Given the description of an element on the screen output the (x, y) to click on. 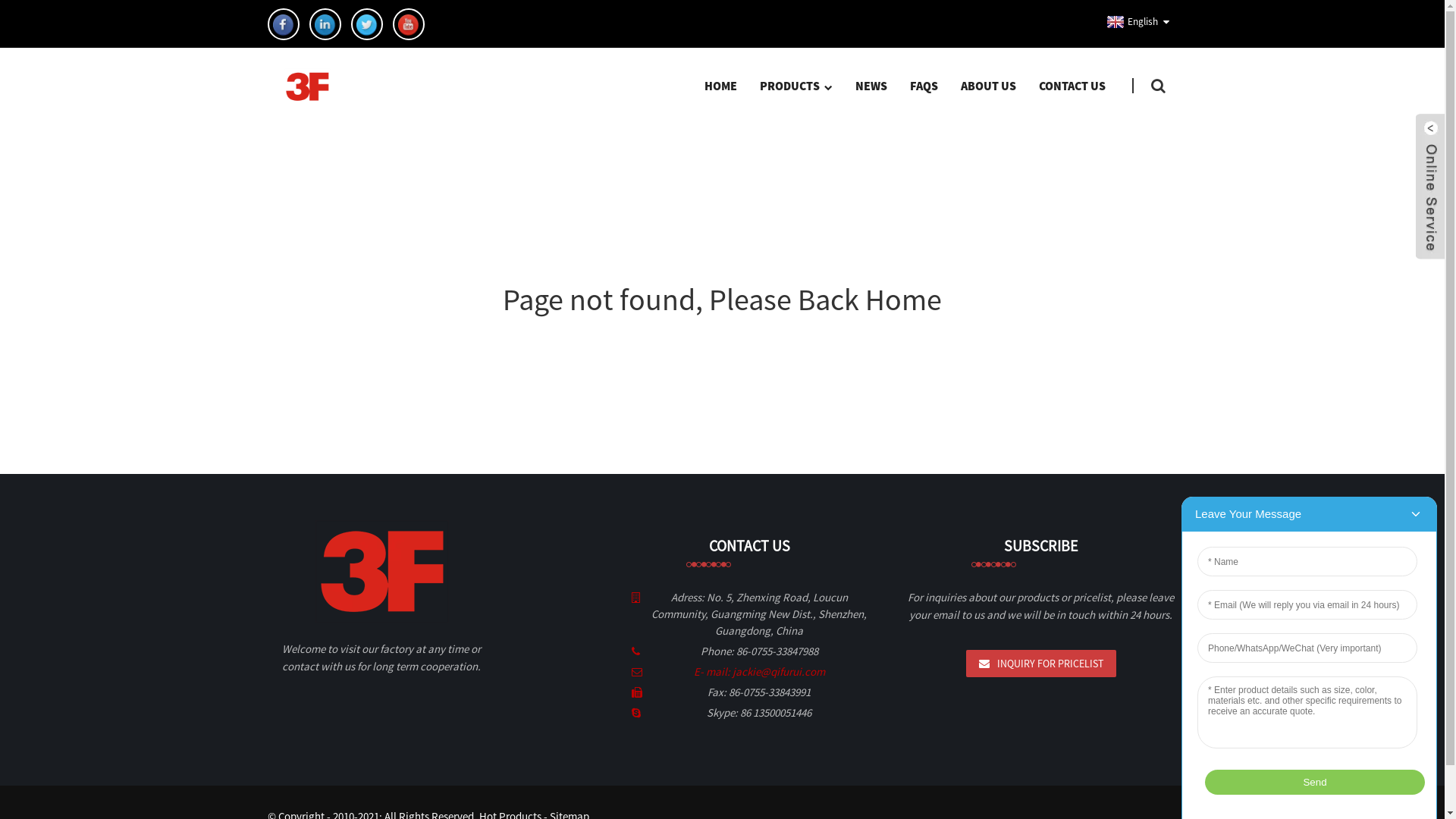
Page not found, Please Back Home Element type: text (721, 299)
INQUIRY FOR PRICELIST Element type: text (1041, 663)
FAQS Element type: text (922, 85)
HOME Element type: text (720, 85)
E- mail: jackie@qifurui.com Element type: text (758, 671)
PRODUCTS Element type: text (795, 86)
English Element type: text (1129, 21)
NEWS Element type: text (870, 85)
ABOUT US Element type: text (988, 85)
CONTACT US Element type: text (1071, 85)
